Given the description of an element on the screen output the (x, y) to click on. 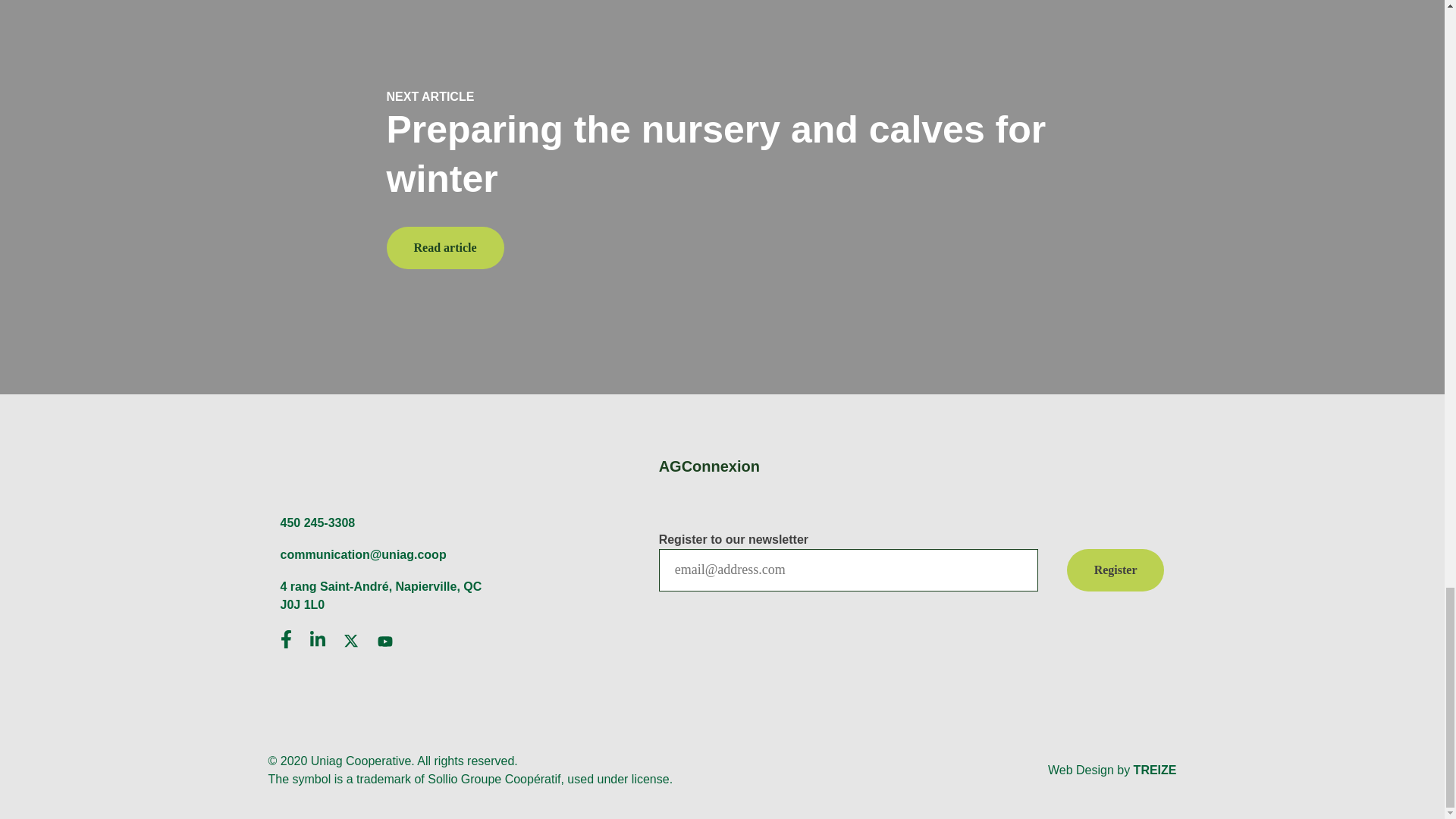
Register (1115, 569)
